Given the description of an element on the screen output the (x, y) to click on. 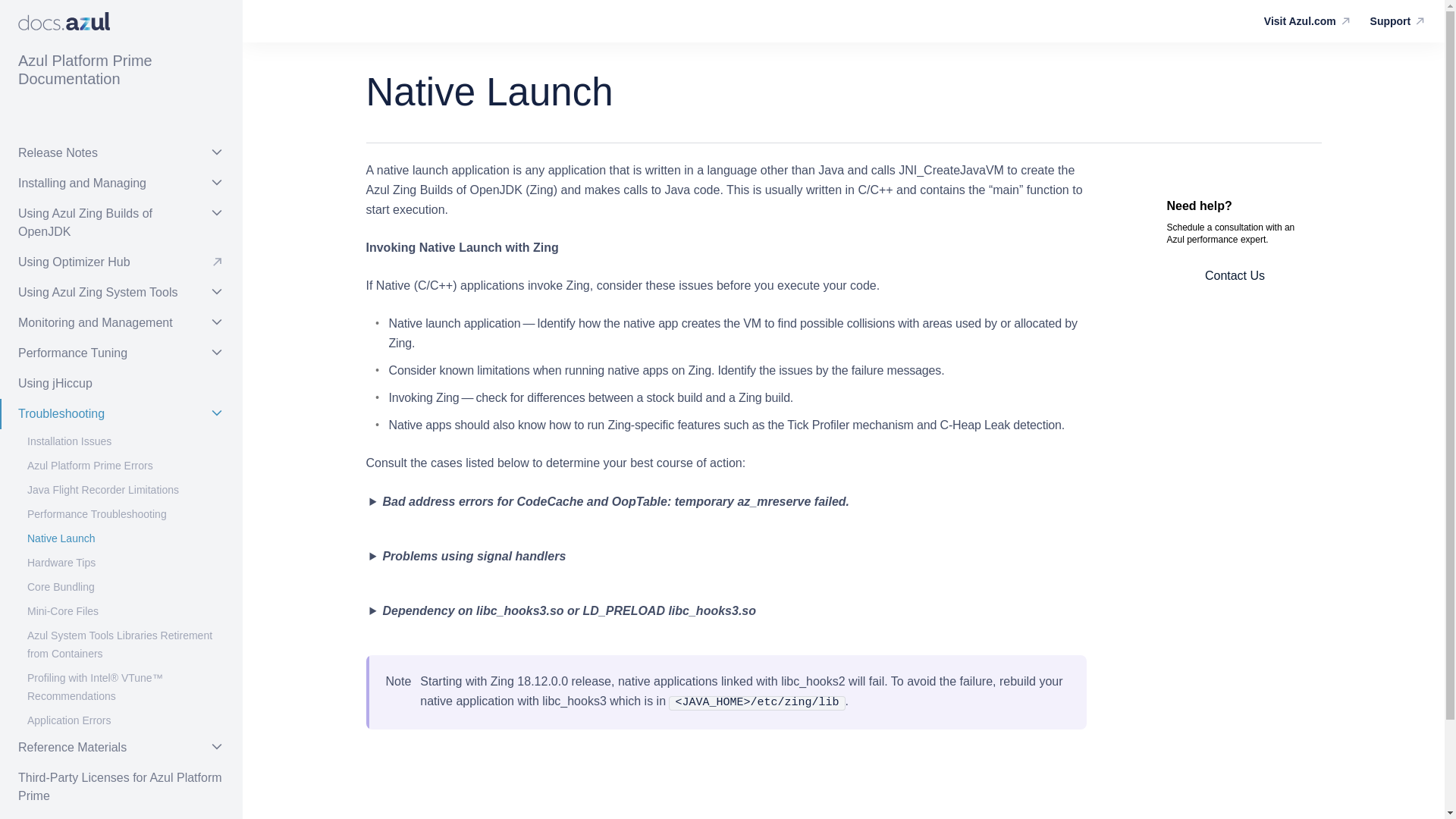
Release Notes (121, 153)
Azul Platform Prime Documentation (121, 69)
Support (1398, 21)
Visit Azul.com (1308, 21)
Installing and Managing (121, 183)
Using Azul Zing Builds of OpenJDK (121, 223)
